Given the description of an element on the screen output the (x, y) to click on. 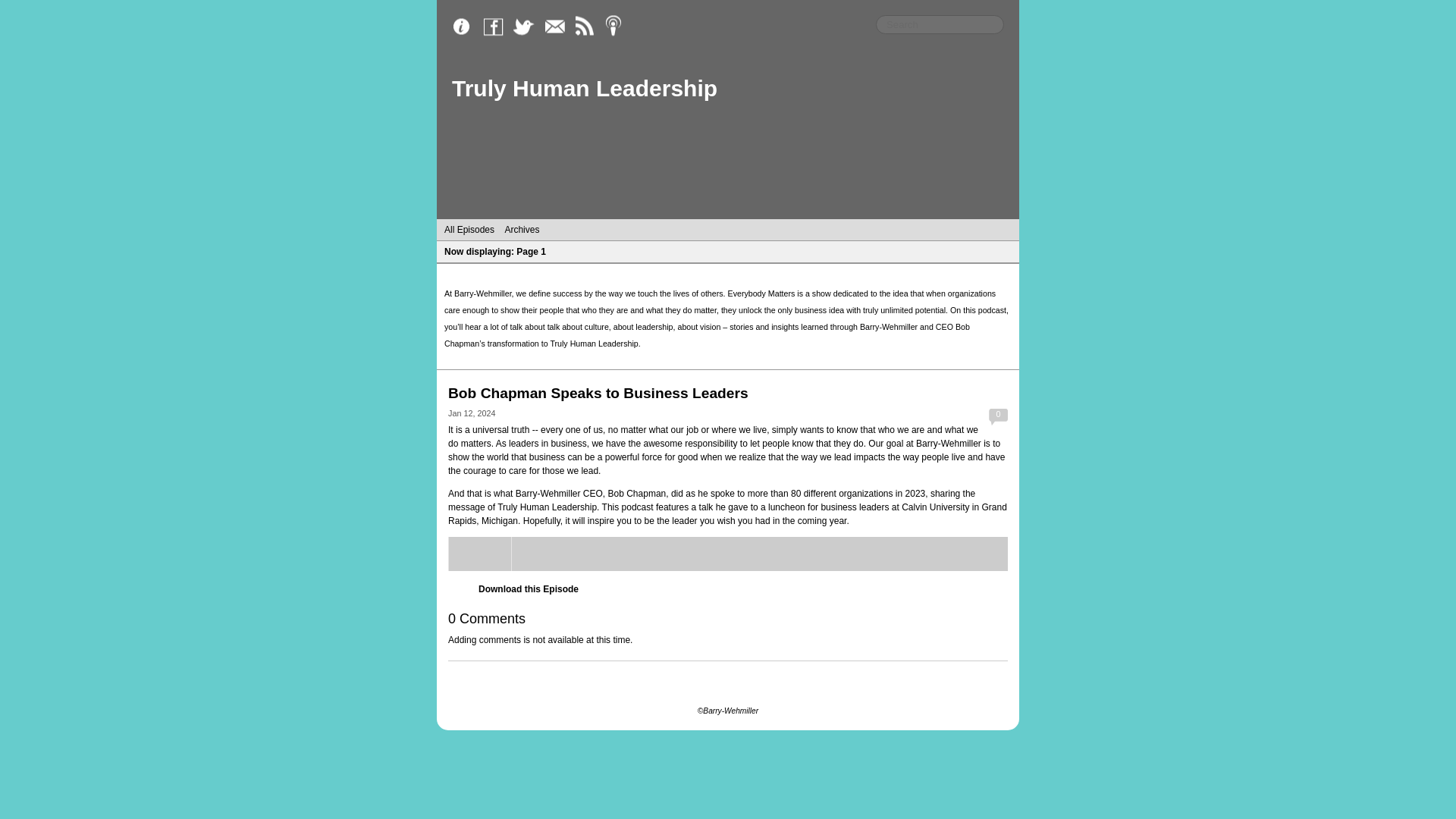
Libsyn Player (727, 553)
Facebook (496, 26)
Truly Human Leadership (584, 88)
Email (558, 26)
Twitter (527, 26)
Subscribe in Apple Podcasts (618, 26)
RSS Feed (588, 26)
